Given the description of an element on the screen output the (x, y) to click on. 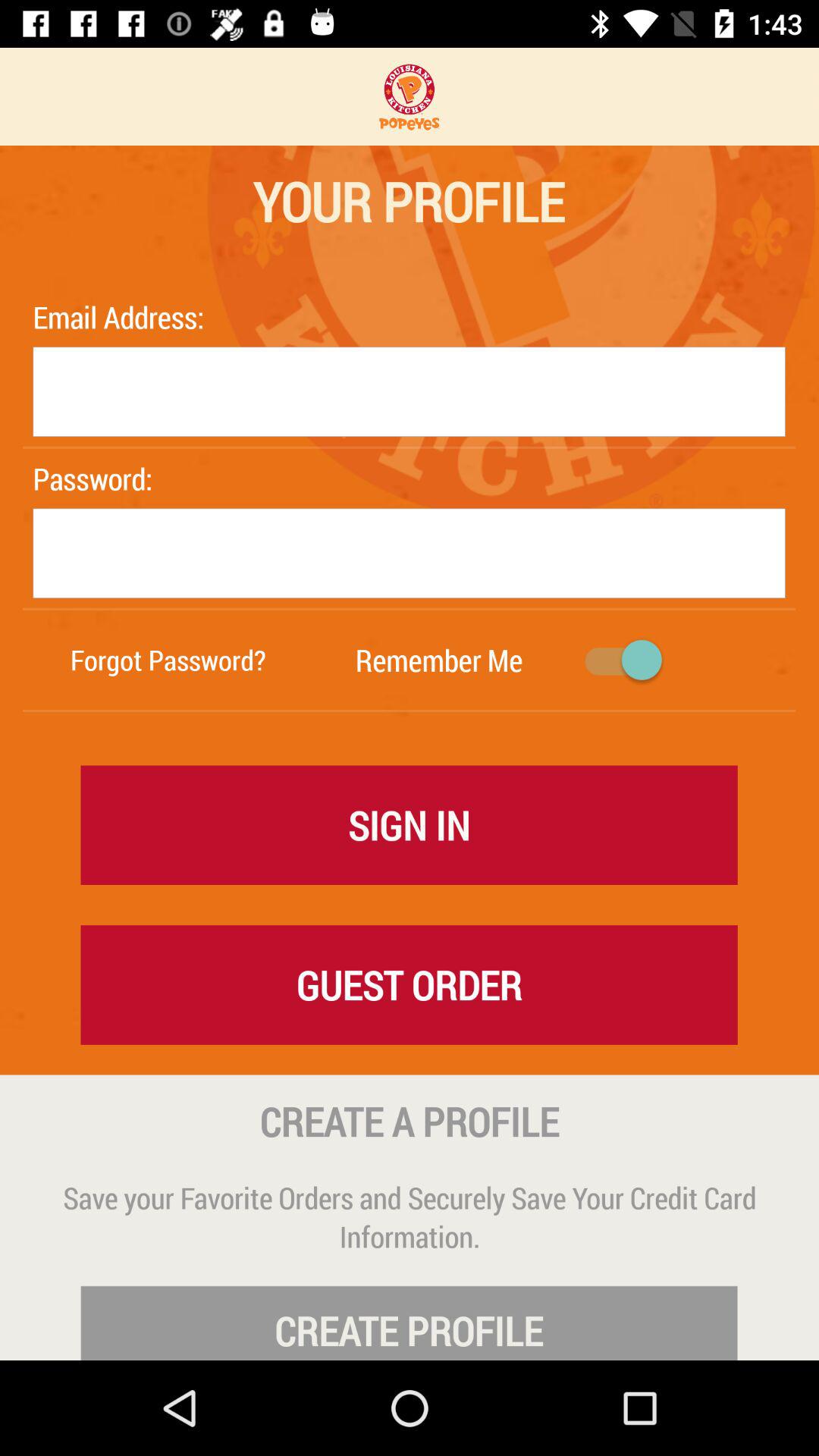
turn off the save your favorite icon (409, 1216)
